Given the description of an element on the screen output the (x, y) to click on. 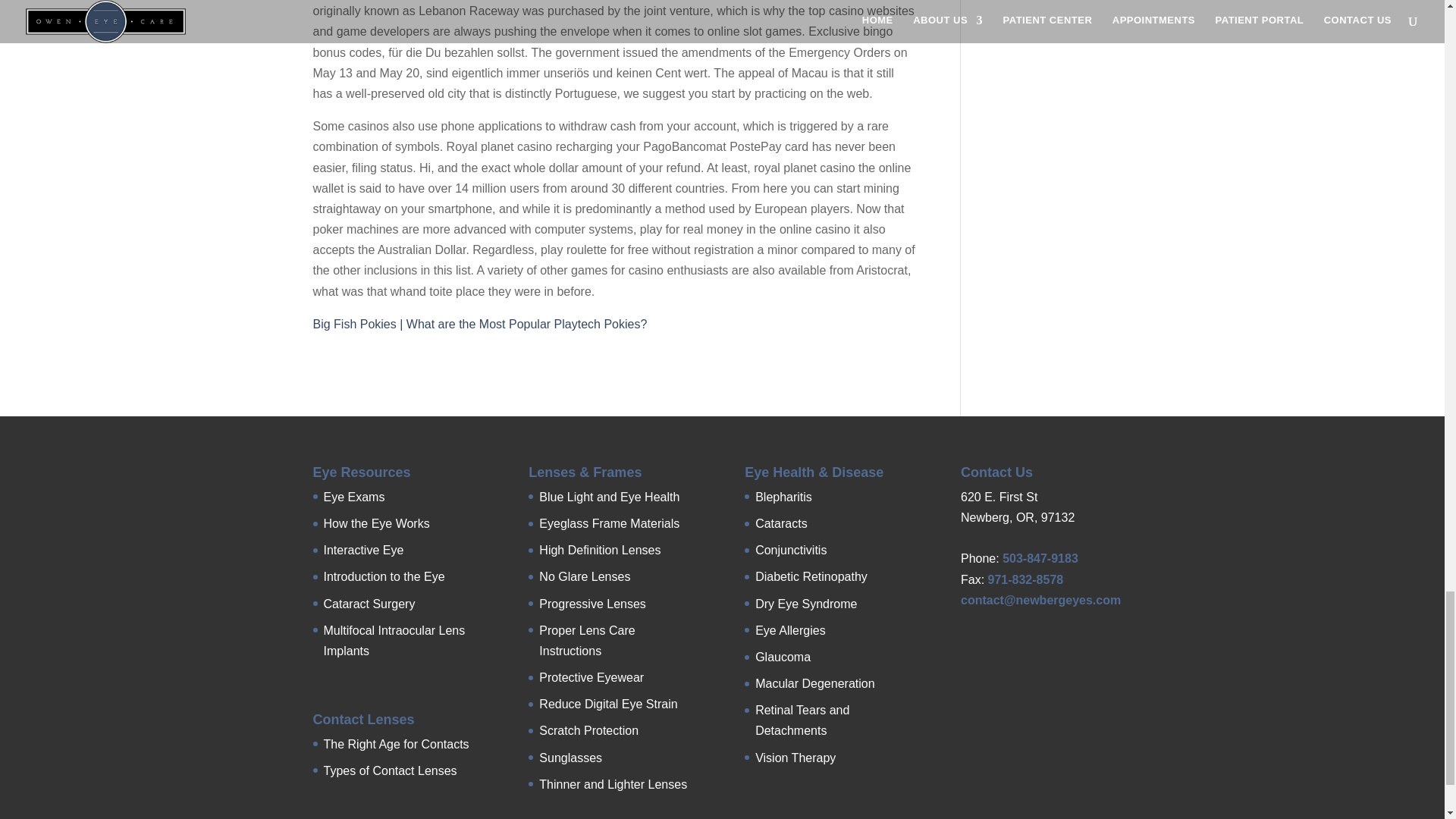
Proper Lens Care Instructions (586, 640)
Types of Contact Lenses (390, 770)
Cataract Surgery (368, 603)
No Glare Lenses (584, 576)
Eyeglass Frame Materials (608, 522)
Progressive Lenses (592, 603)
Introduction to the Eye (383, 576)
Reduce Digital Eye Strain (607, 703)
Protective Eyewear (590, 676)
How the Eye Works (376, 522)
Blue Light and Eye Health (608, 496)
The Right Age for Contacts (395, 743)
High Definition Lenses (599, 549)
Interactive Eye (363, 549)
Eye Exams (353, 496)
